Given the description of an element on the screen output the (x, y) to click on. 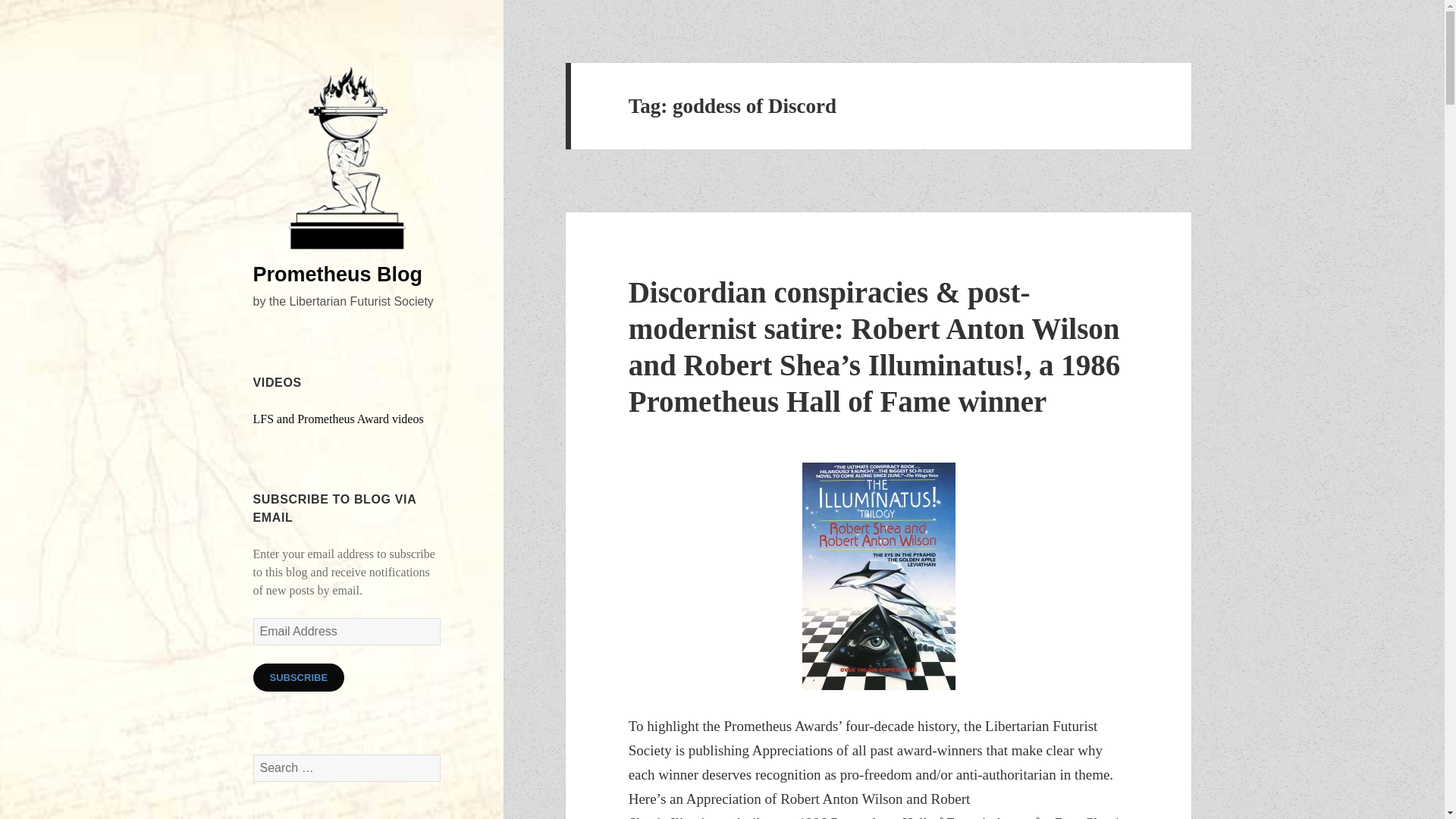
Prometheus Blog (338, 273)
LFS and Prometheus Award videos (338, 418)
SUBSCRIBE (299, 677)
